Given the description of an element on the screen output the (x, y) to click on. 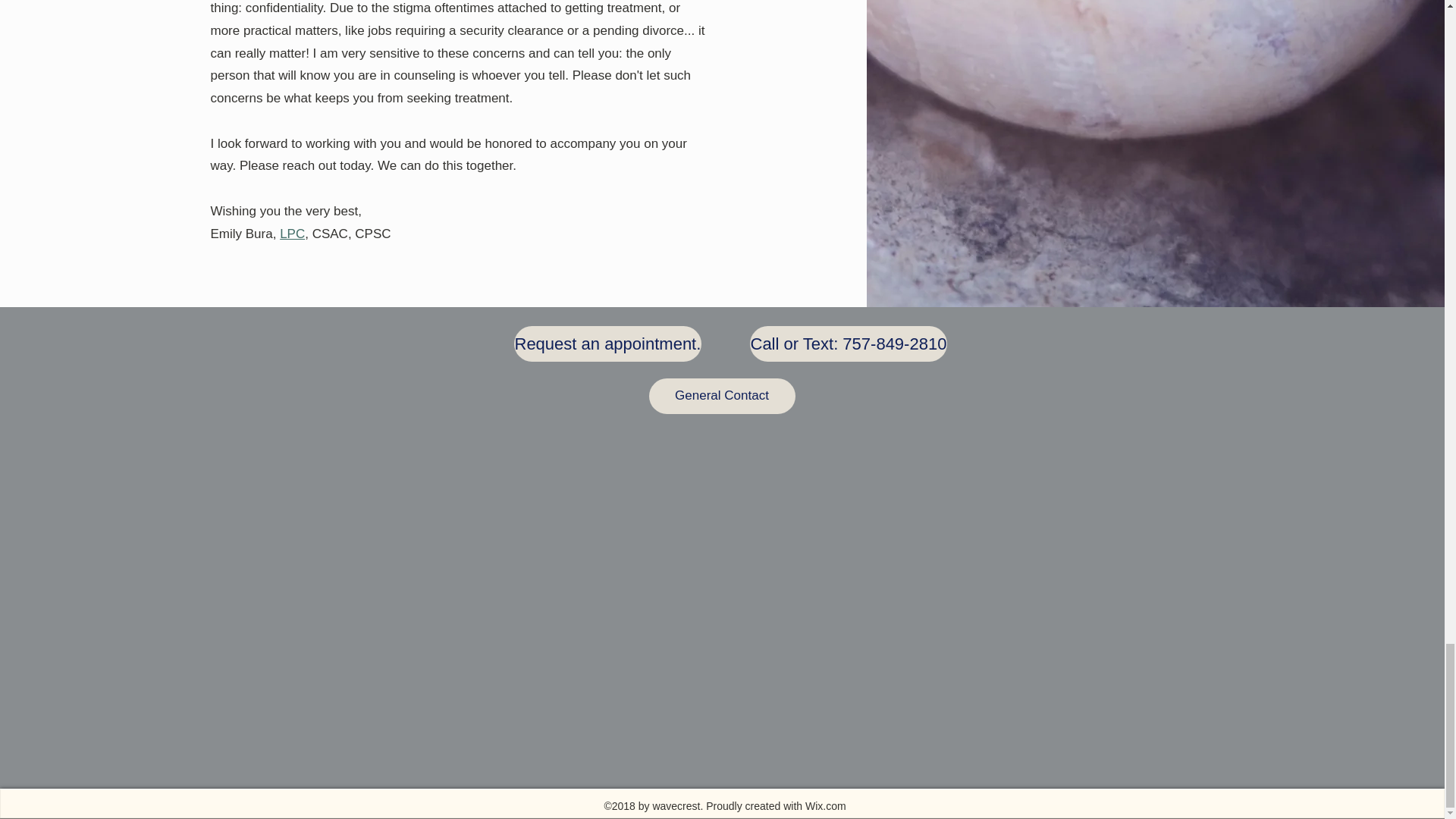
Call or Text: 757-849-2810 (848, 343)
General Contact (721, 396)
LPC (291, 233)
Request an appointment. (607, 343)
